Given the description of an element on the screen output the (x, y) to click on. 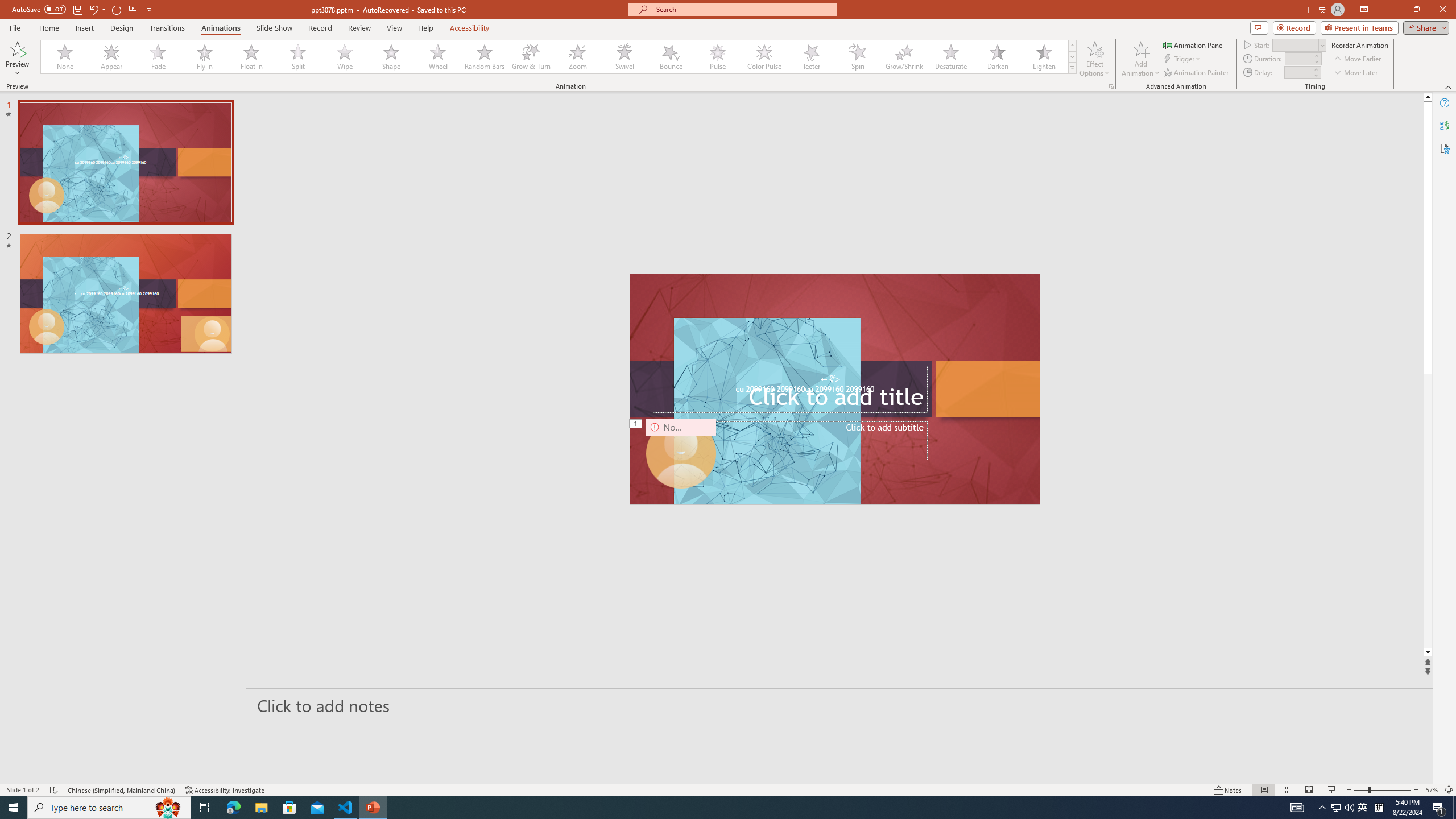
More (1315, 69)
Spin (857, 56)
None (65, 56)
Bounce (670, 56)
Animation Painter (1196, 72)
